Given the description of an element on the screen output the (x, y) to click on. 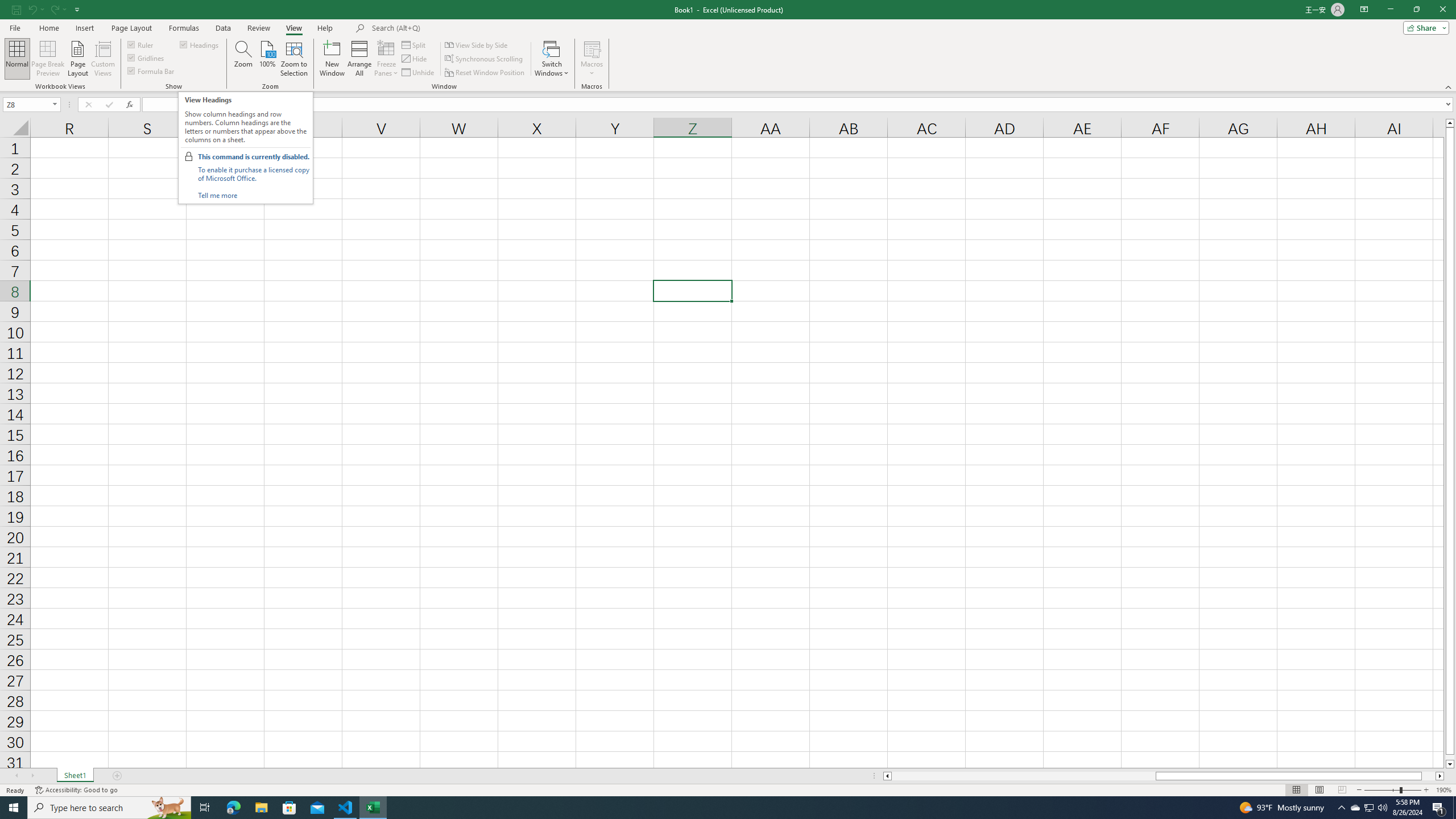
Ruler (141, 44)
Unhide... (419, 72)
Zoom to Selection (293, 58)
Custom Views... (103, 58)
New Window (332, 58)
Freeze Panes (386, 58)
Macros (591, 58)
